Given the description of an element on the screen output the (x, y) to click on. 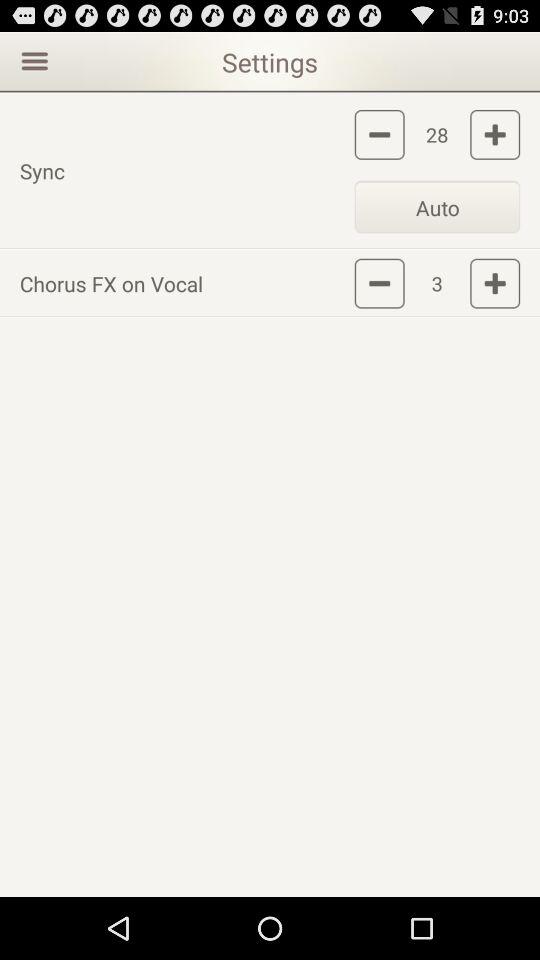
open up menu (32, 60)
